Given the description of an element on the screen output the (x, y) to click on. 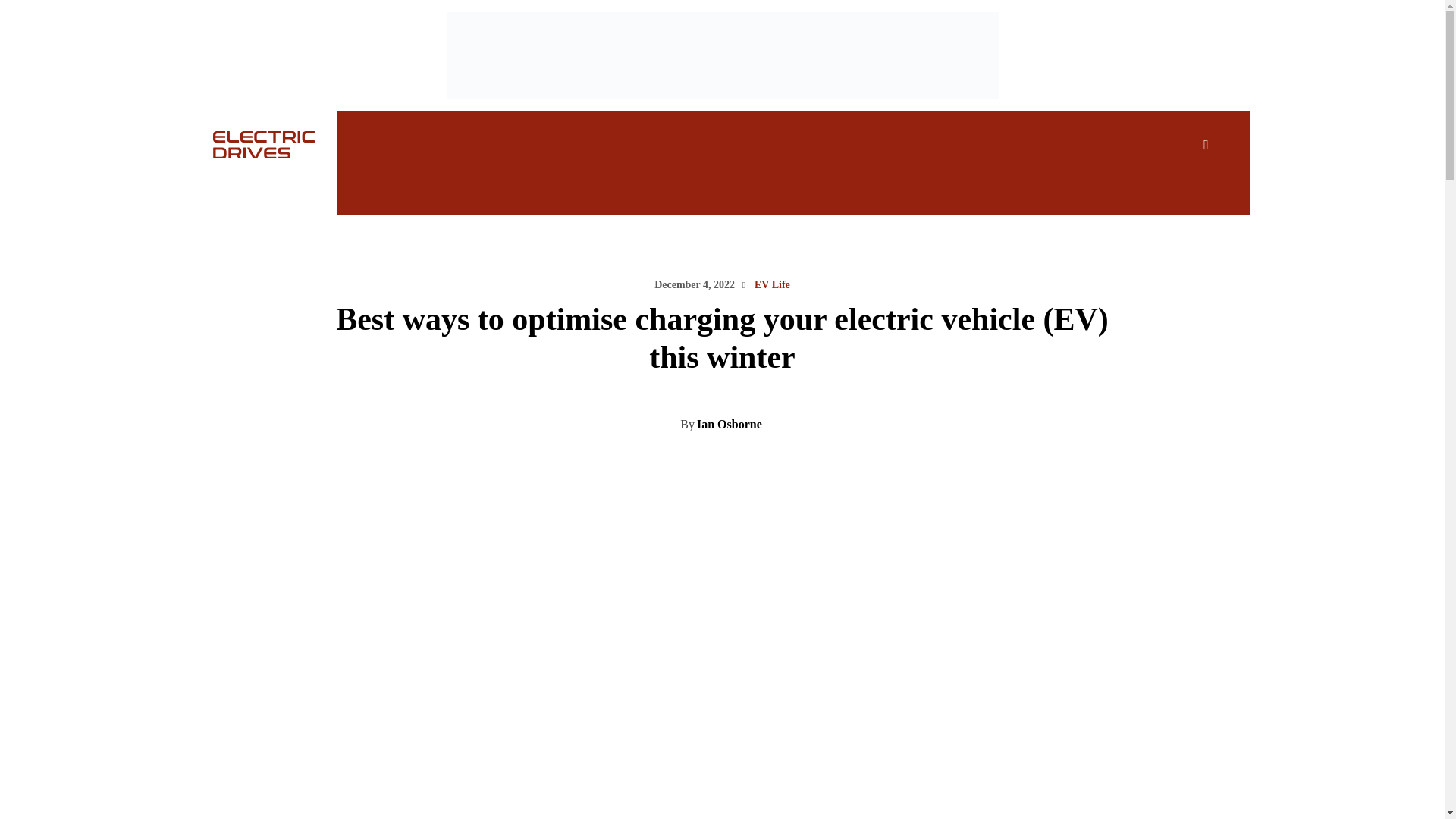
Elecctric Drives (246, 144)
